Given the description of an element on the screen output the (x, y) to click on. 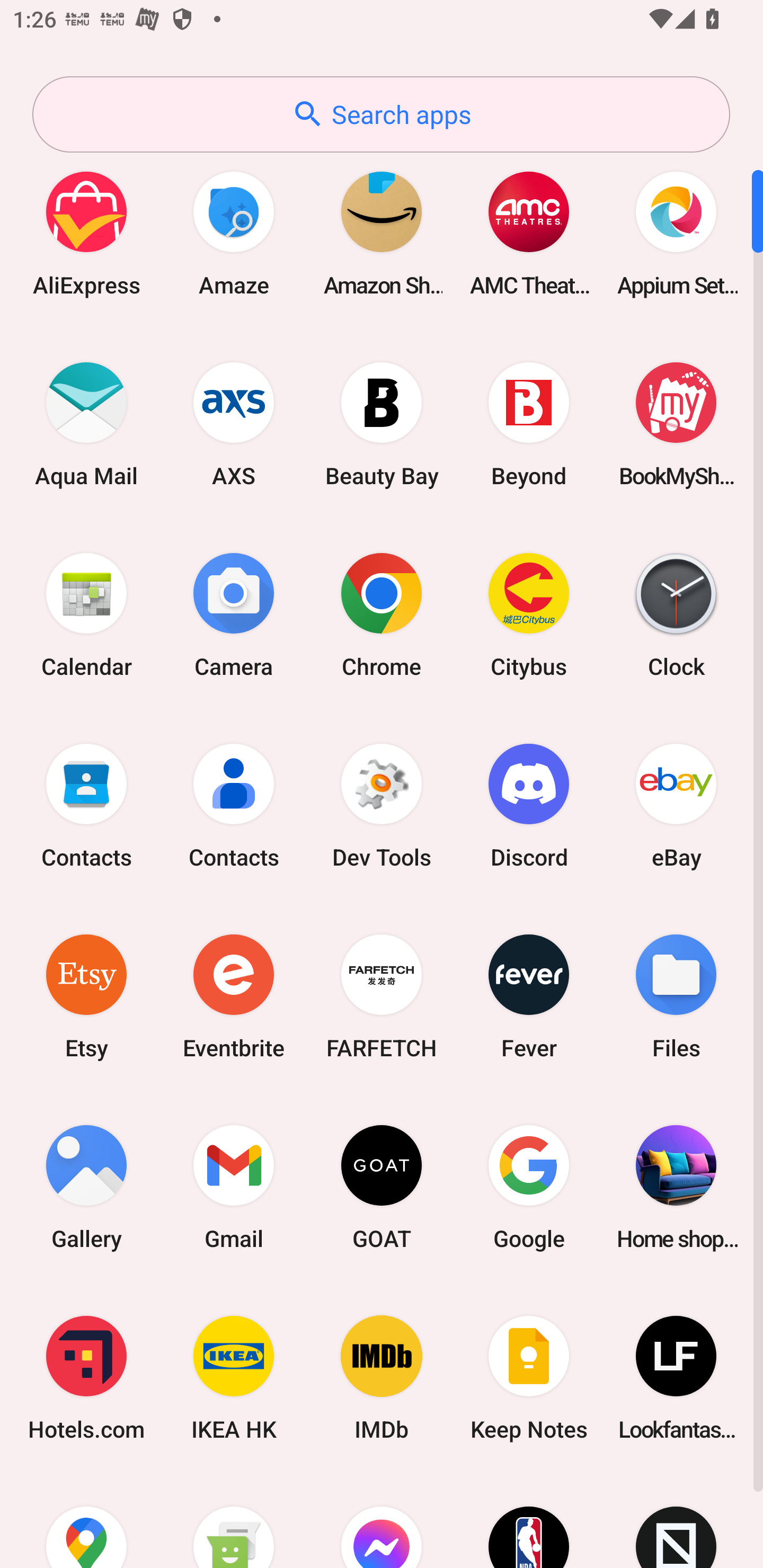
  Search apps (381, 114)
AliExpress (86, 233)
Amaze (233, 233)
Amazon Shopping (381, 233)
AMC Theatres (528, 233)
Appium Settings (676, 233)
Aqua Mail (86, 424)
AXS (233, 424)
Beauty Bay (381, 424)
Beyond (528, 424)
BookMyShow (676, 424)
Calendar (86, 614)
Camera (233, 614)
Chrome (381, 614)
Citybus (528, 614)
Clock (676, 614)
Contacts (86, 805)
Contacts (233, 805)
Dev Tools (381, 805)
Discord (528, 805)
eBay (676, 805)
Etsy (86, 996)
Eventbrite (233, 996)
FARFETCH (381, 996)
Fever (528, 996)
Files (676, 996)
Gallery (86, 1186)
Gmail (233, 1186)
GOAT (381, 1186)
Google (528, 1186)
Home shopping (676, 1186)
Hotels.com (86, 1377)
IKEA HK (233, 1377)
IMDb (381, 1377)
Keep Notes (528, 1377)
Lookfantastic (676, 1377)
